Given the description of an element on the screen output the (x, y) to click on. 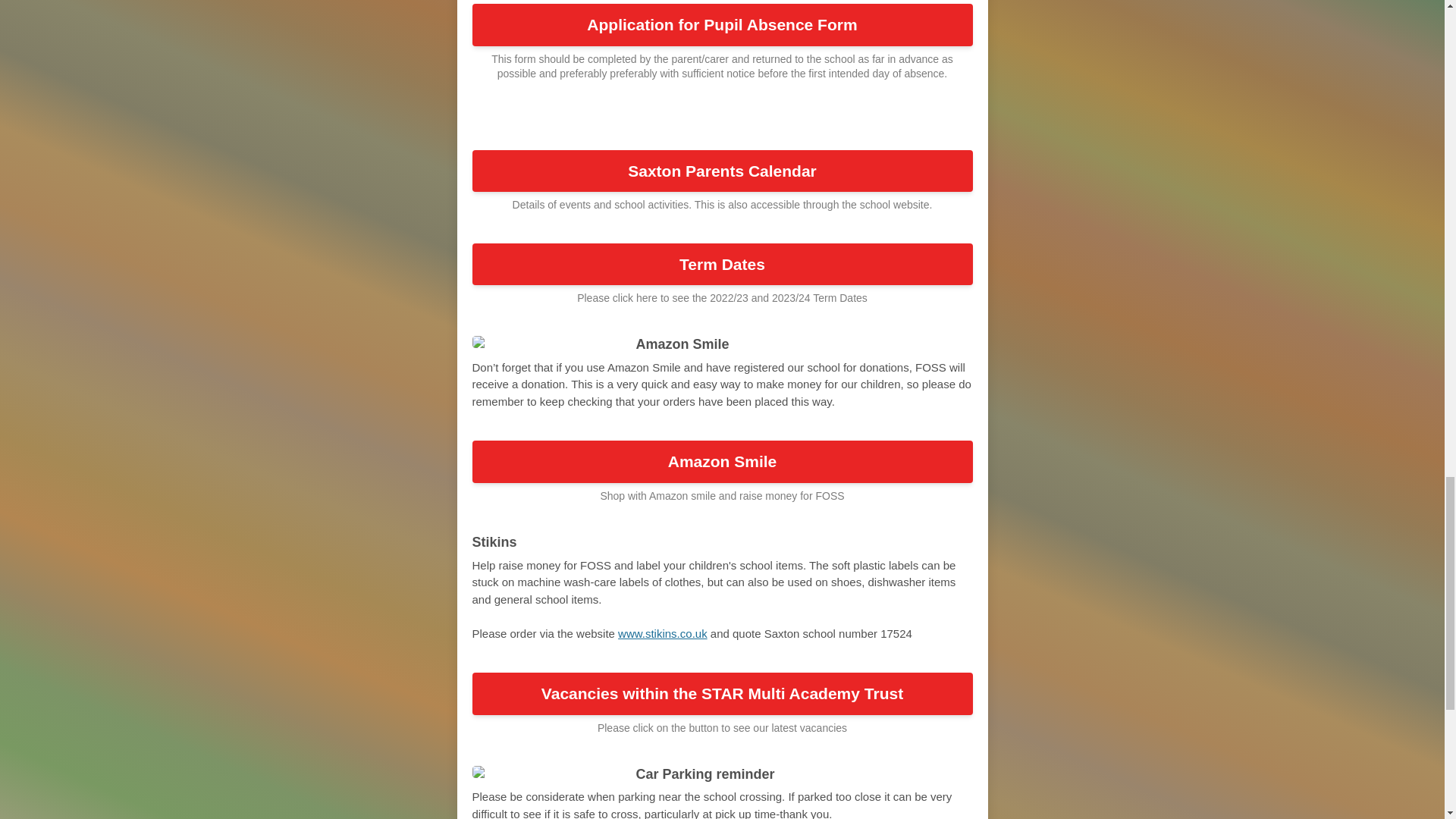
Vacancies within the STAR Multi Academy Trust (721, 693)
www.stikins.co.uk (662, 633)
Dates (749, 122)
Diary (693, 122)
Application for Pupil Absence Form (721, 24)
Term Dates (721, 264)
Saxton Parents Calendar (721, 170)
Amazon Smile (721, 461)
